Given the description of an element on the screen output the (x, y) to click on. 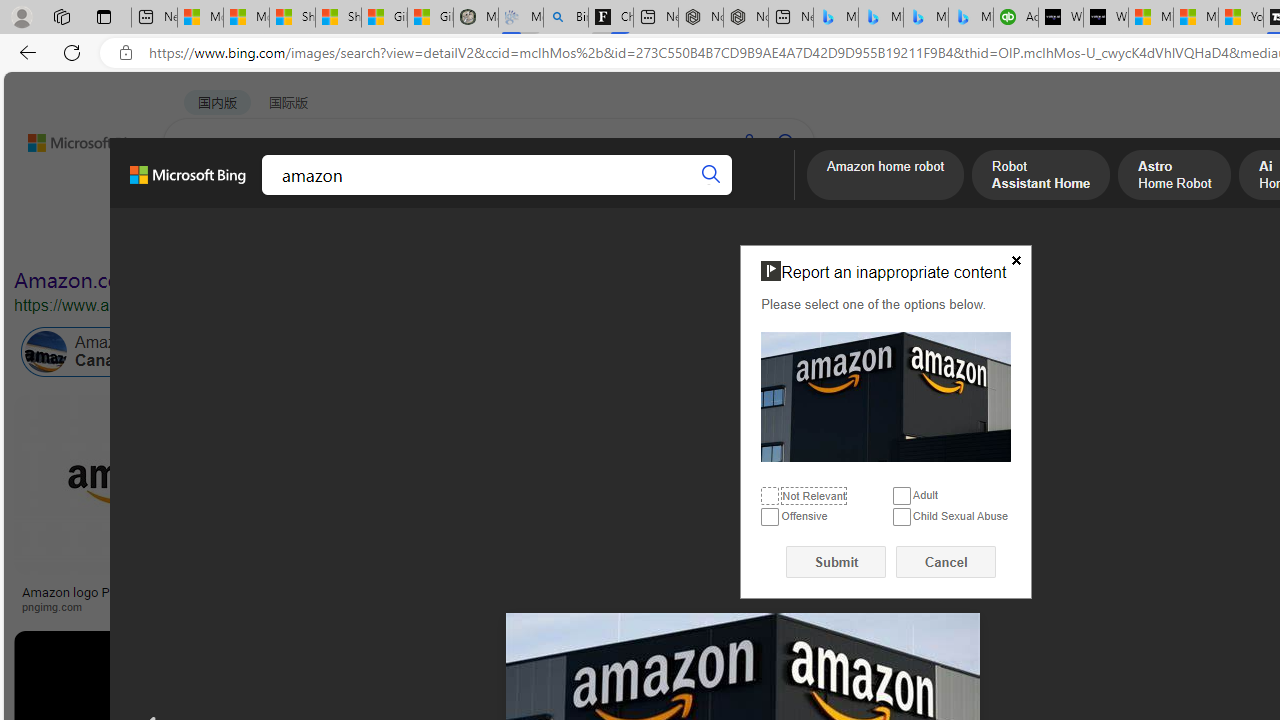
Microsoft Bing Travel - Stays in Bangkok, Bangkok, Thailand (880, 17)
Image size (221, 237)
License (664, 237)
Microsoft Bing, Back to Bing search (188, 183)
Kindle Paperwhite Case (1183, 524)
Date (591, 237)
MORE (779, 195)
Layout (443, 237)
Not Relevant (770, 496)
Class: item col (893, 351)
Amazon Kids (464, 351)
Amazon Cloud (606, 351)
License (665, 237)
